Given the description of an element on the screen output the (x, y) to click on. 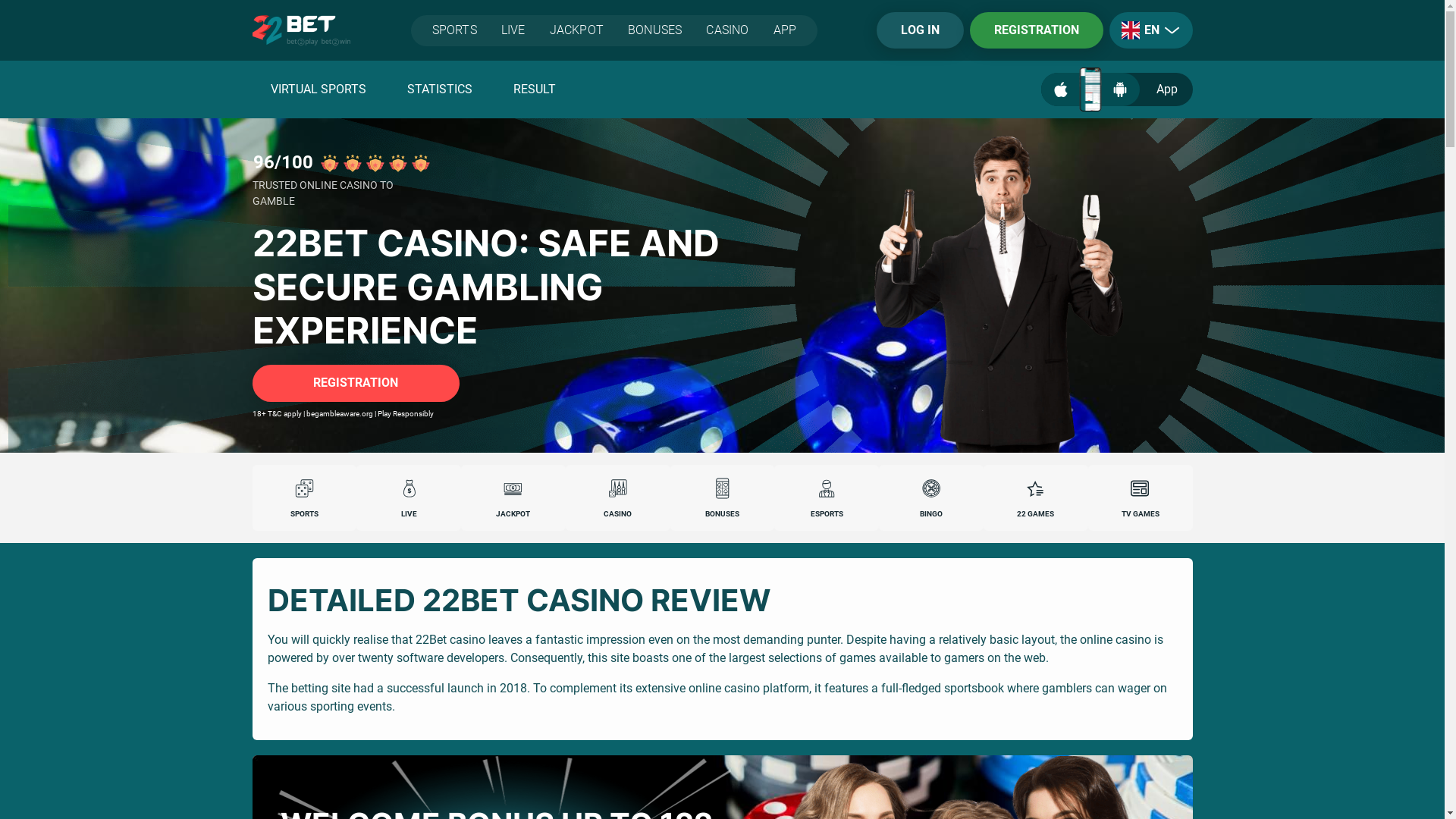
CASINO Element type: text (726, 30)
JACKPOT Element type: text (513, 497)
REGISTRATION Element type: text (354, 382)
EN Element type: text (1150, 30)
TV GAMES Element type: text (1140, 497)
BONUSES Element type: text (654, 30)
APP Element type: text (789, 30)
Sports Element type: hover (303, 488)
LOG IN Element type: text (919, 30)
SPORTS Element type: text (303, 497)
EN Element type: hover (1129, 30)
22Bet rating Element type: hover (374, 162)
iphone Element type: hover (1090, 89)
LIVE Element type: text (408, 497)
Casino Element type: hover (617, 488)
STATISTICS Element type: text (438, 89)
ESPORTS Element type: text (826, 497)
ESports Element type: hover (826, 488)
BINGO Element type: text (930, 497)
22 Games Element type: hover (1035, 488)
JACKPOT Element type: text (576, 30)
LIVE Element type: text (513, 30)
BONUSES Element type: text (722, 497)
Bingo Element type: hover (931, 488)
App Element type: text (1116, 89)
22Bet Online Casino Element type: hover (1003, 285)
TV Games Element type: hover (1140, 488)
Jackpot Element type: hover (513, 488)
SPORTS Element type: text (450, 30)
CASINO Element type: text (617, 497)
RESULT Element type: text (533, 89)
22 GAMES Element type: text (1035, 497)
VIRTUAL SPORTS Element type: text (317, 89)
22Bet Element type: hover (300, 30)
Bonuses Element type: hover (722, 488)
REGISTRATION Element type: text (1035, 30)
22Bet Casino Element type: hover (722, 285)
Live Element type: hover (408, 488)
